Given the description of an element on the screen output the (x, y) to click on. 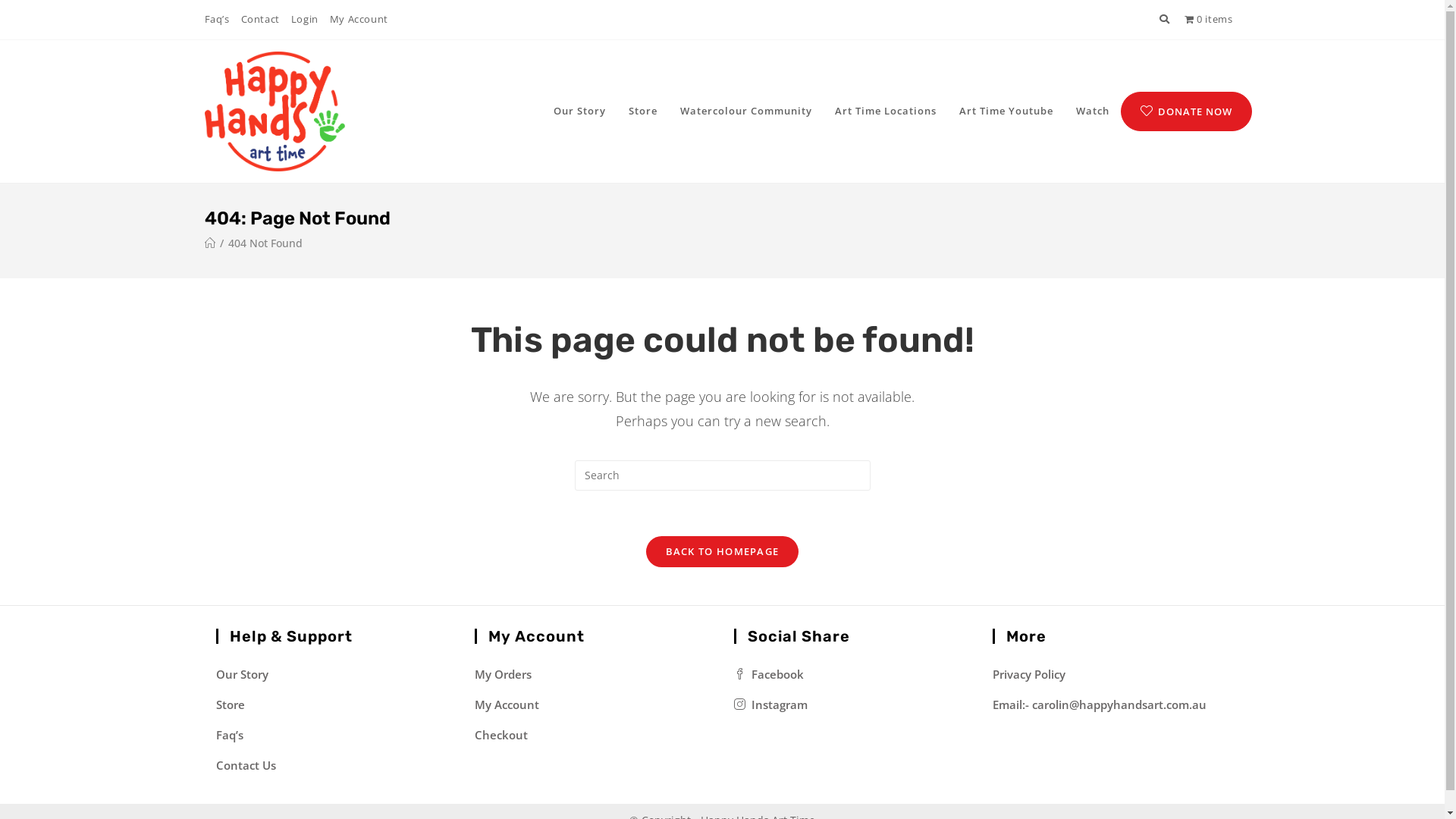
404 Not Found Element type: text (264, 242)
Our Story Element type: text (241, 673)
Watercolour Community Element type: text (745, 110)
Store Element type: text (229, 704)
Facebook Element type: text (768, 673)
Our Story Element type: text (578, 110)
Privacy Policy Element type: text (1028, 673)
Art Time Locations Element type: text (885, 110)
Art Time Youtube Element type: text (1005, 110)
My Orders Element type: text (502, 673)
My Account Element type: text (506, 704)
Instagram Element type: text (770, 704)
Store Element type: text (642, 110)
BACK TO HOMEPAGE Element type: text (722, 551)
DONATE NOW Element type: text (1186, 111)
0 items Element type: text (1208, 18)
Contact Element type: text (260, 19)
Watch Element type: text (1092, 110)
Login Element type: text (304, 19)
Checkout Element type: text (500, 734)
My Account Element type: text (358, 19)
Email:- carolin@happyhandsart.com.au Element type: text (1099, 704)
Contact Us Element type: text (245, 764)
